Given the description of an element on the screen output the (x, y) to click on. 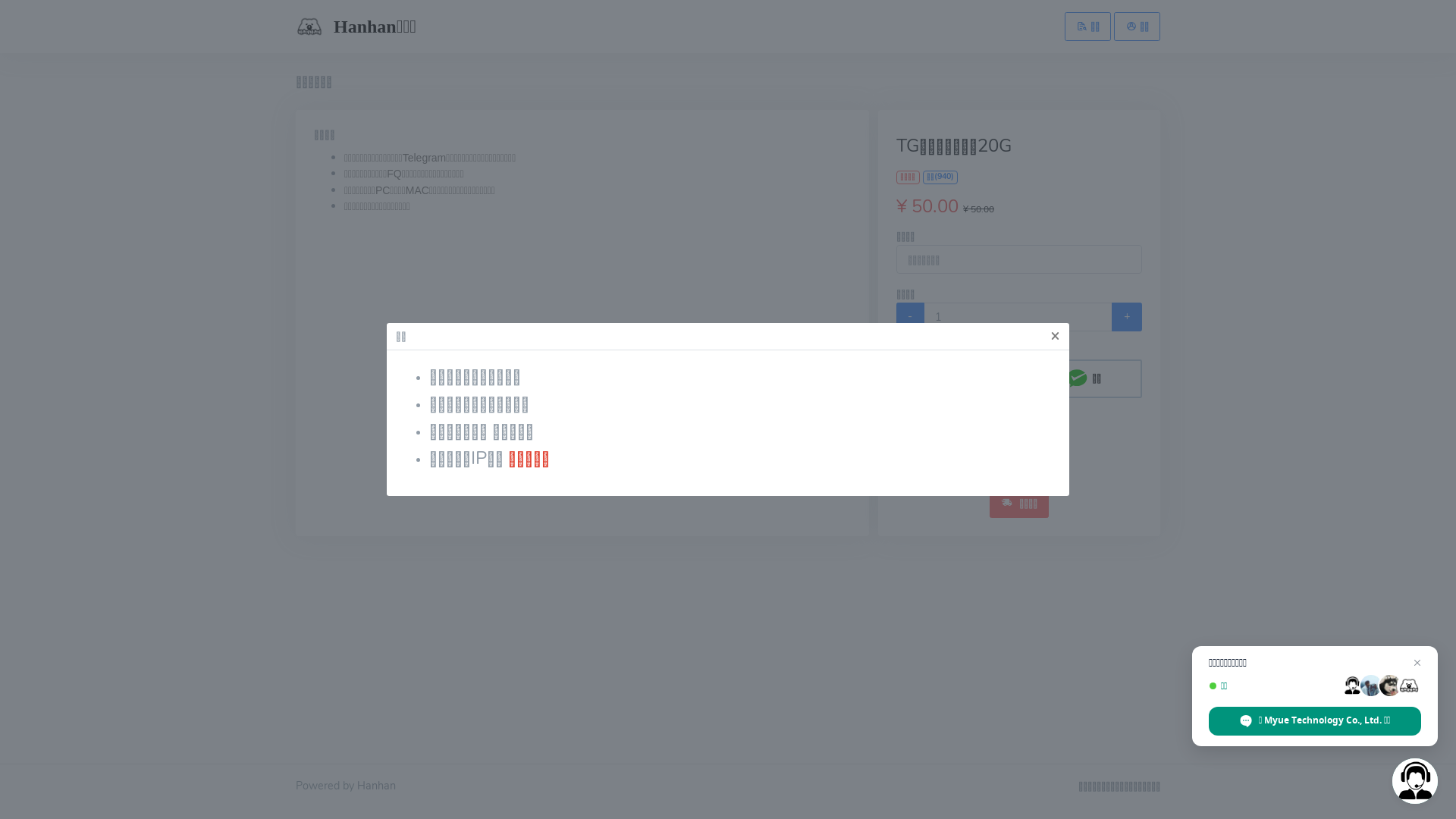
- Element type: text (910, 316)
+ Element type: text (1126, 316)
Hanhan Element type: text (376, 785)
